Given the description of an element on the screen output the (x, y) to click on. 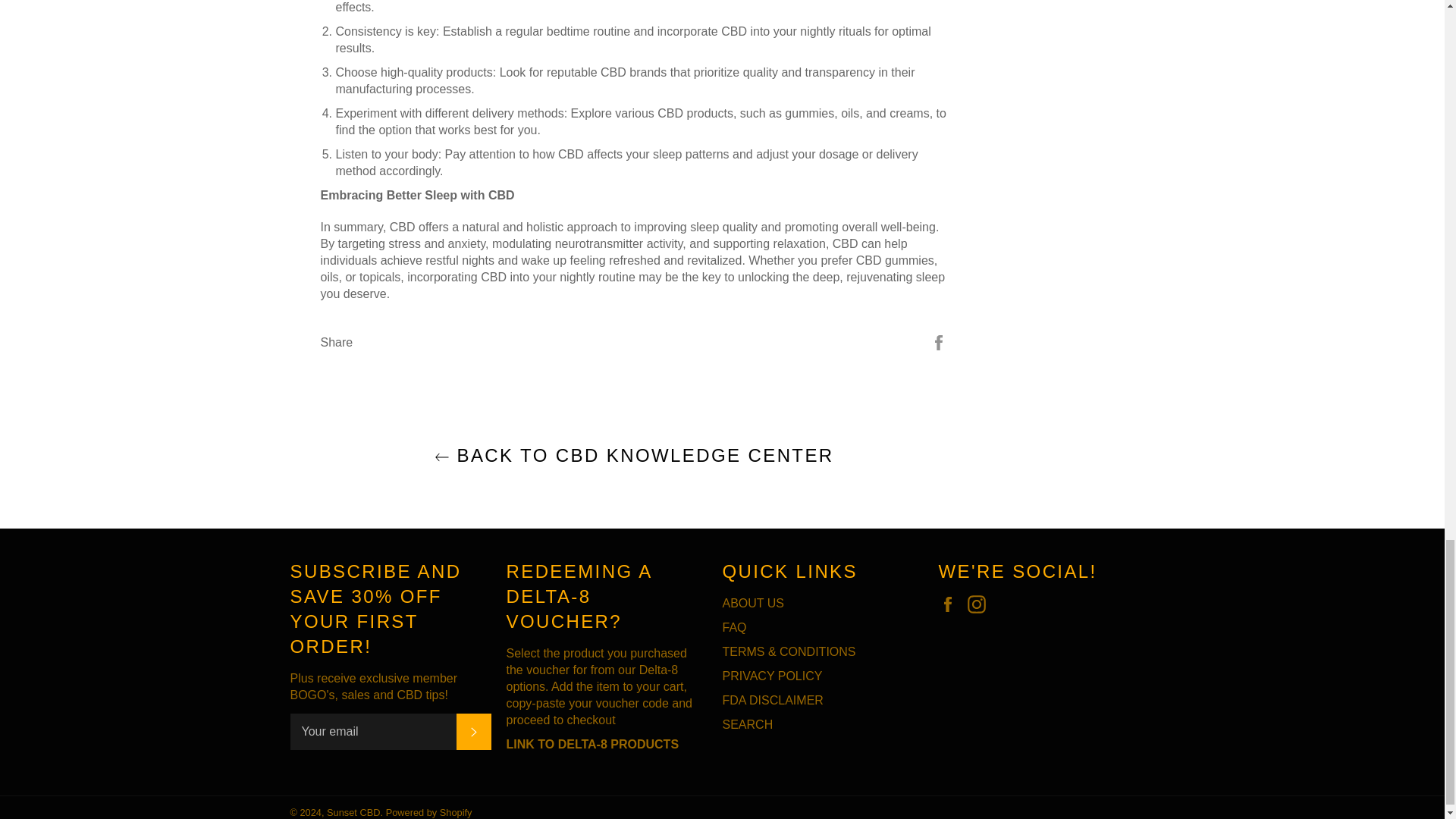
Sunset CBD on Instagram (980, 604)
DELTA-8 (592, 744)
Sunset CBD on Facebook (951, 604)
Share on Facebook (938, 341)
